Given the description of an element on the screen output the (x, y) to click on. 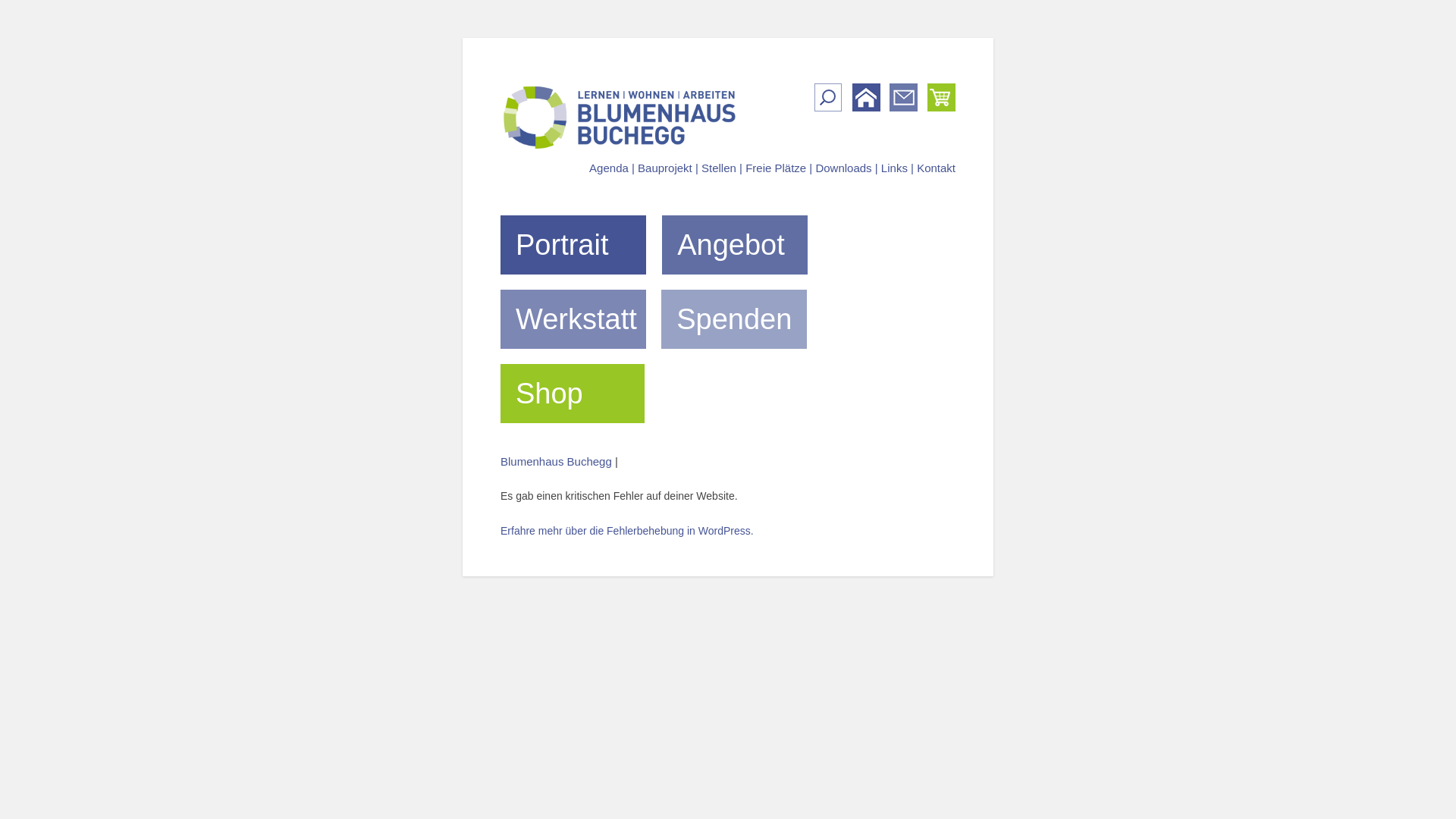
Agenda | Element type: text (611, 167)
Spendeninfo Element type: text (733, 361)
Leitbild Element type: text (573, 287)
Angebot Element type: text (573, 361)
Links | Element type: text (897, 167)
Angebot Element type: text (741, 244)
Shop Element type: text (578, 393)
Schule Element type: text (734, 287)
Skip to content Element type: text (485, 200)
Spenden Element type: text (740, 318)
Downloads | Element type: text (846, 167)
Bauprojekt | Element type: text (667, 167)
Werkstatt Element type: text (579, 318)
Portrait Element type: text (579, 244)
Kontakt Element type: text (935, 167)
Unsere Ateliers Element type: text (573, 436)
Suche Element type: text (18, 14)
Stellen | Element type: text (721, 167)
Blumenhaus Buchegg Element type: text (555, 461)
